Given the description of an element on the screen output the (x, y) to click on. 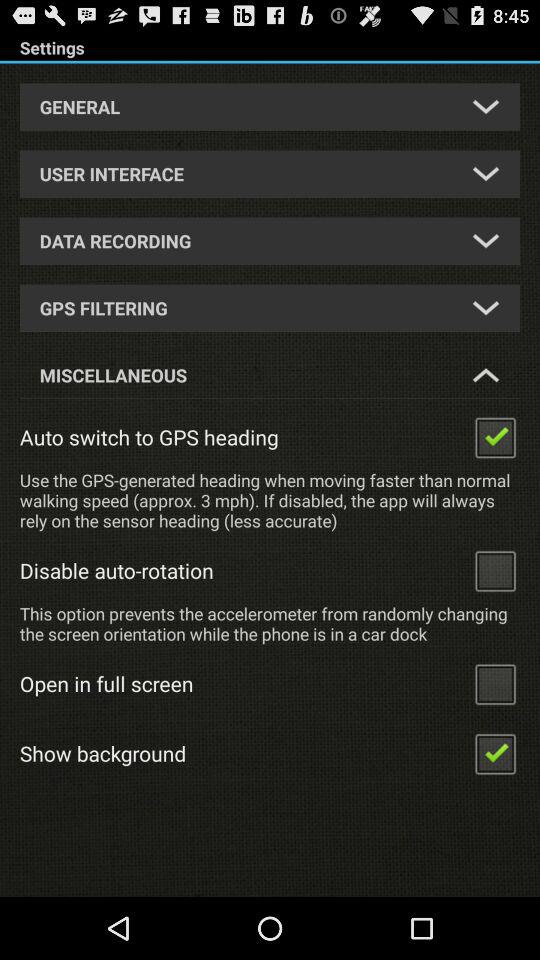
click to select (495, 752)
